Given the description of an element on the screen output the (x, y) to click on. 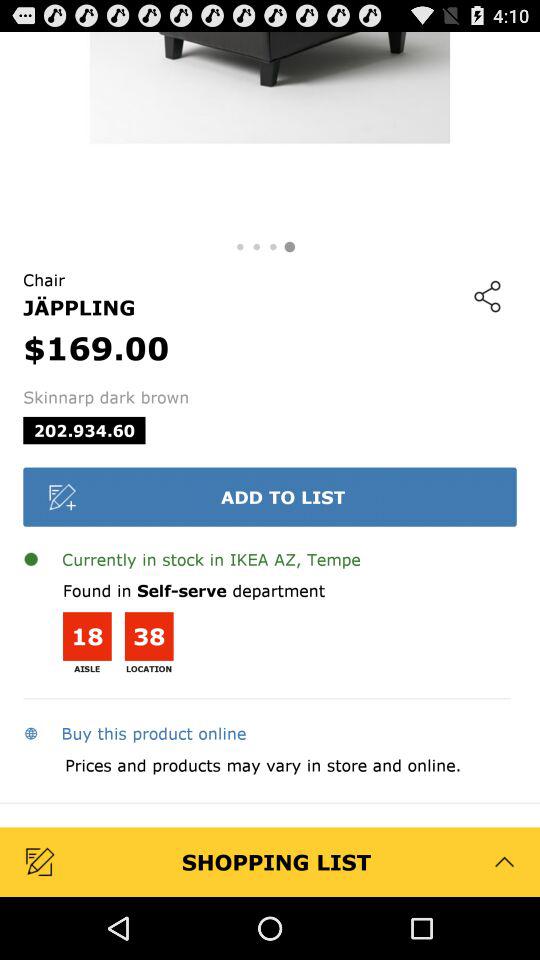
enlarge picture (270, 132)
